Given the description of an element on the screen output the (x, y) to click on. 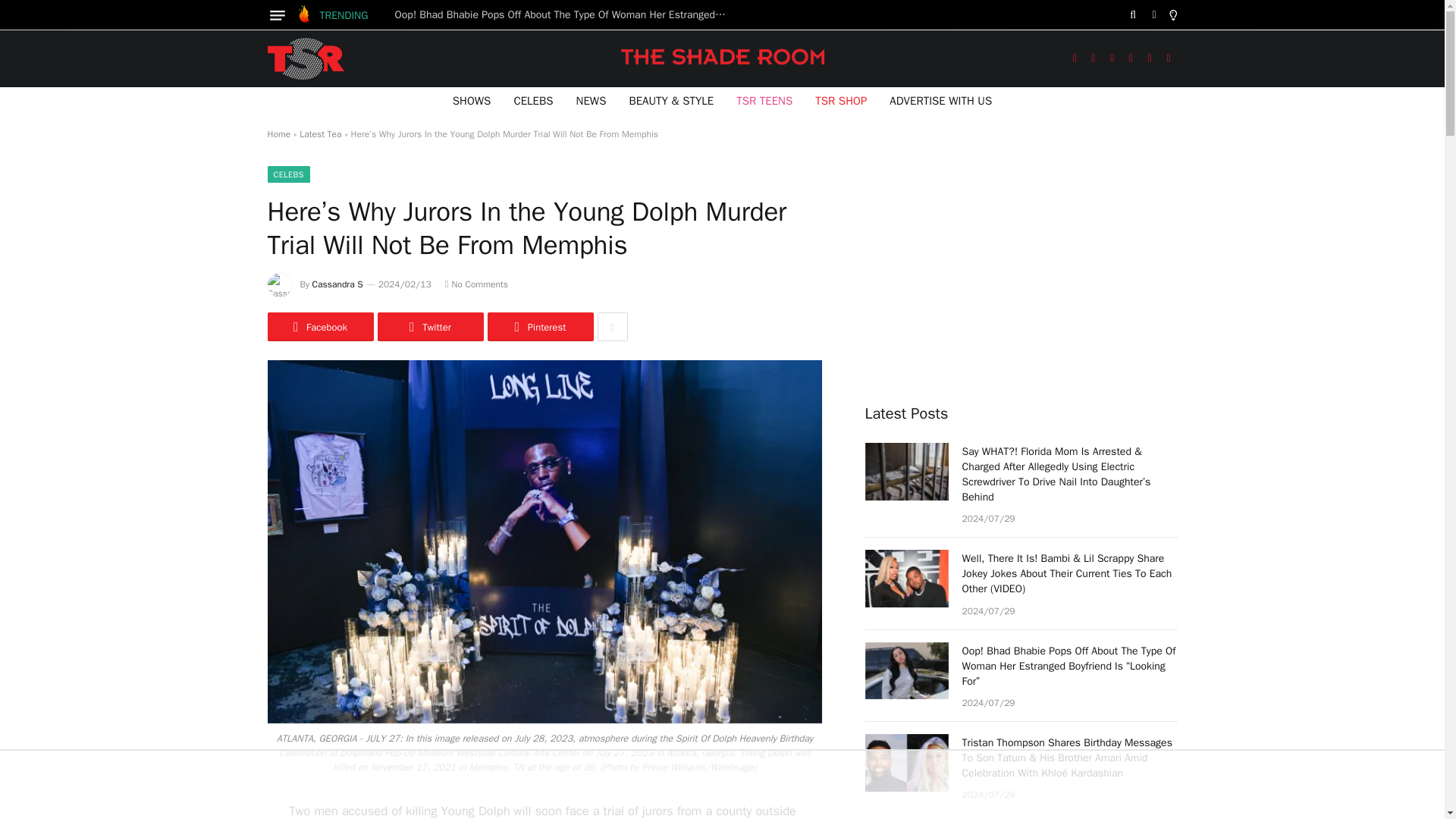
Posts by Cassandra S (337, 284)
Switch to Dark Design - easier on eyes. (1153, 14)
Share on Pinterest (539, 326)
SHOWS (471, 99)
Show More Social Sharing (611, 326)
The Shade Room (304, 58)
Share on Facebook (319, 326)
